Given the description of an element on the screen output the (x, y) to click on. 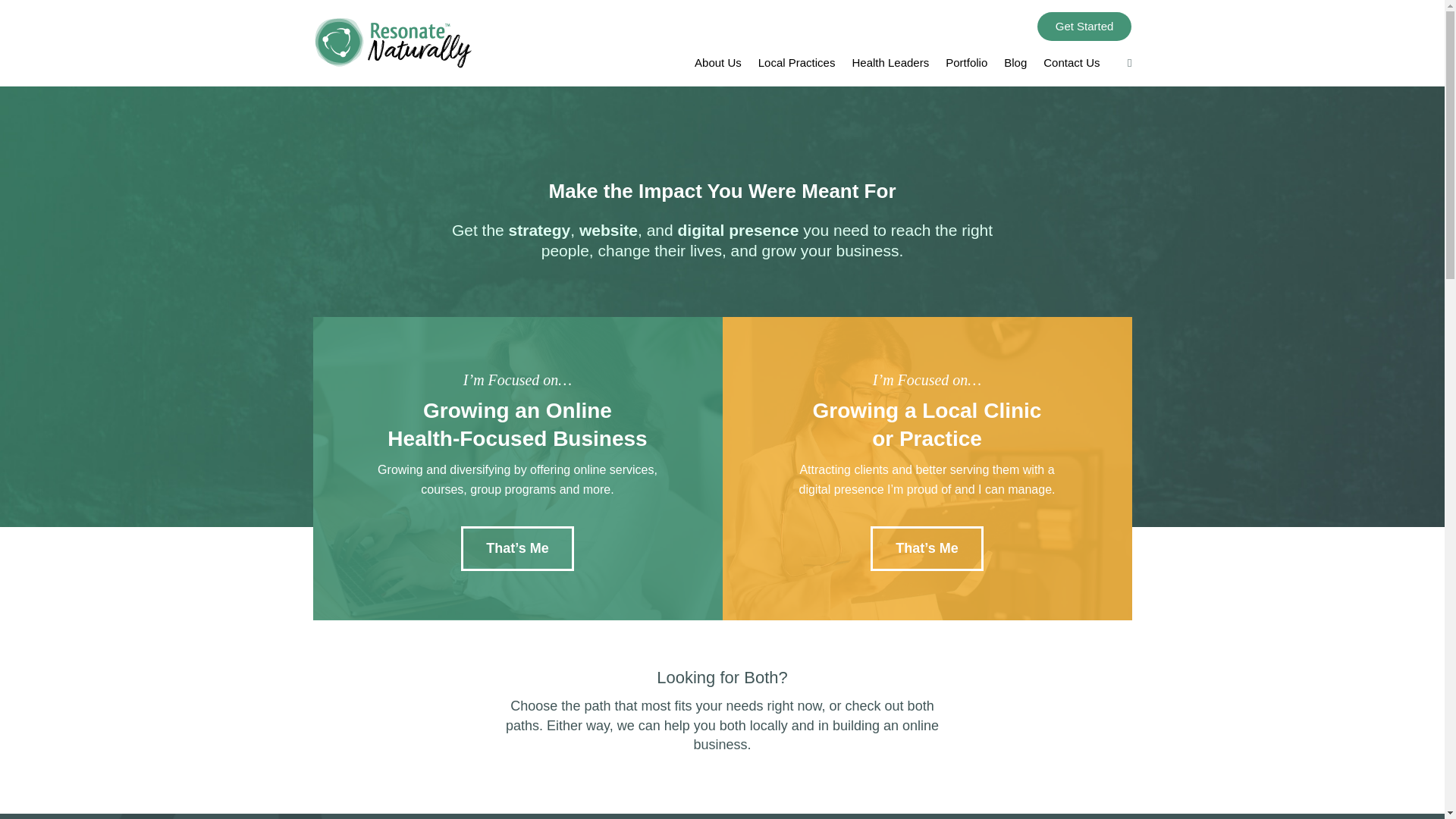
Health Leaders (889, 65)
Local Practices (796, 65)
Portfolio (965, 65)
Blog (1015, 65)
About Us (717, 65)
Get Started (1084, 26)
Facebook (1123, 64)
Contact Us (1071, 65)
